Given the description of an element on the screen output the (x, y) to click on. 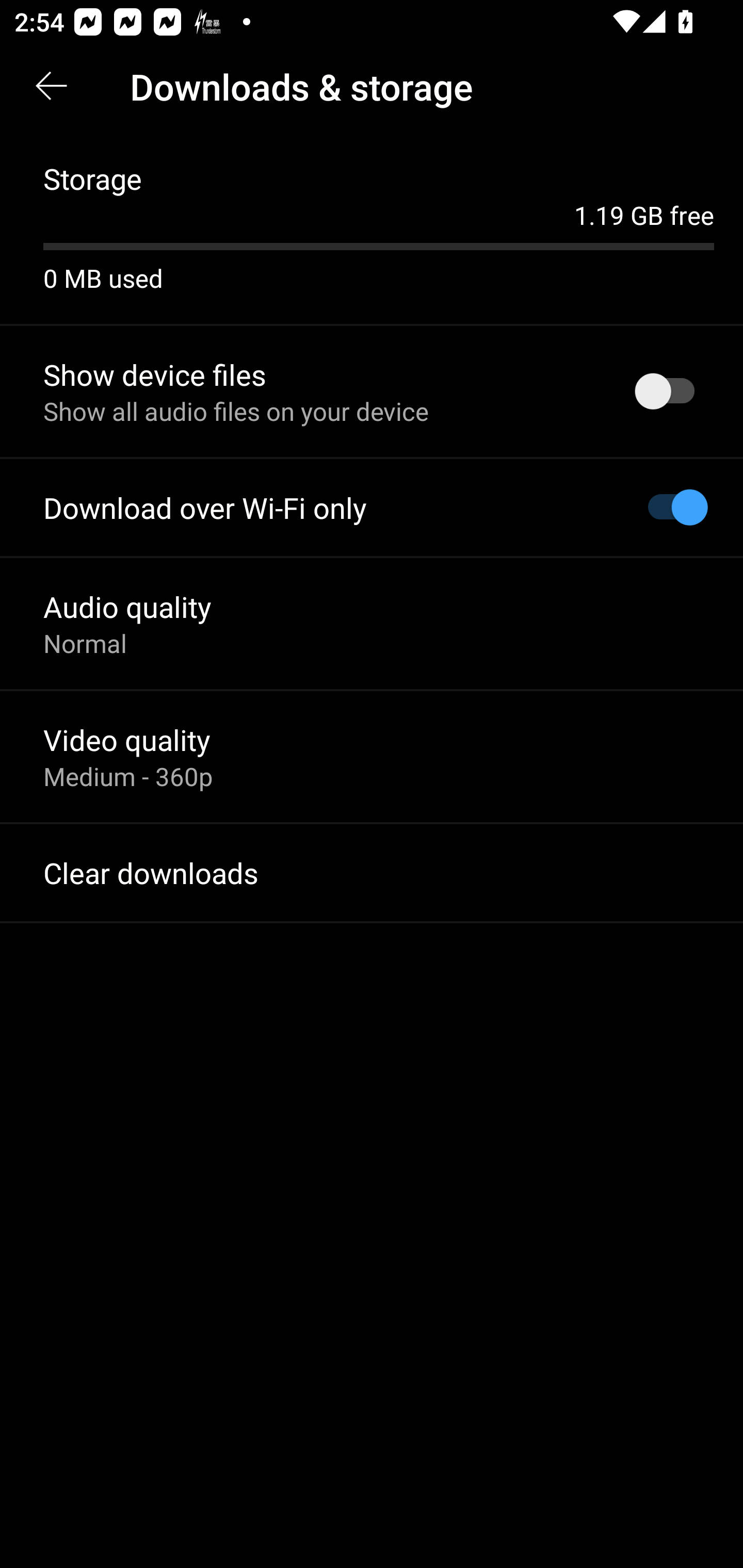
Back (50, 86)
Download over Wi-Fi only (371, 507)
Audio quality Normal (371, 623)
Video quality Medium - 360p (371, 756)
Clear downloads (371, 872)
